Given the description of an element on the screen output the (x, y) to click on. 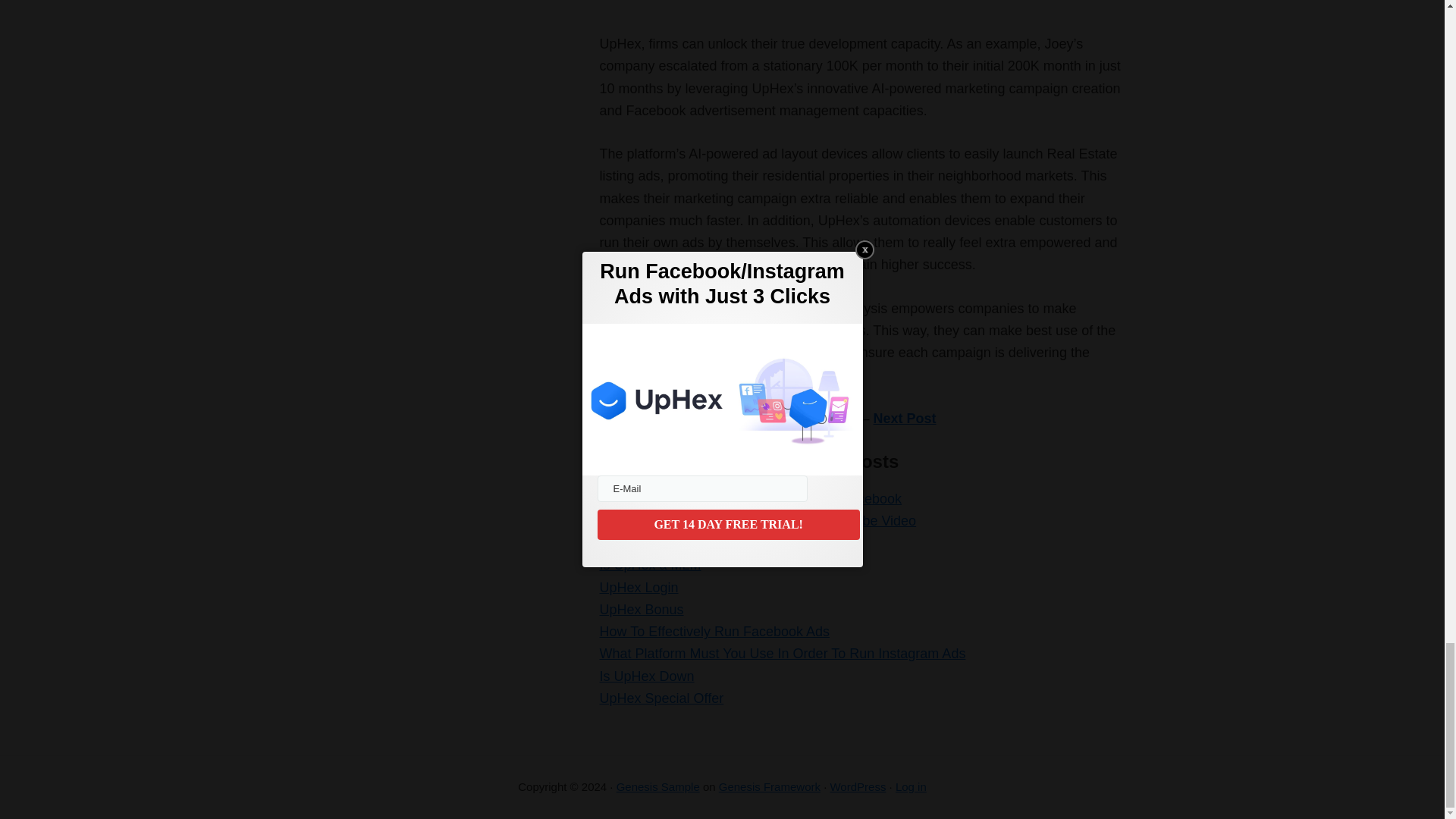
Genesis Framework (770, 786)
Is UpHex Down (646, 676)
Log in (910, 786)
Can I Run Facebook Ads To Promote Youtube Video (756, 520)
Prev Post (825, 418)
UpHex Bonus (640, 609)
How To Effectively Run Facebook Ads (713, 631)
Can I Run Facebook Ads To Promote Youtube Video (756, 520)
WordPress (857, 786)
Is UpHex a MLM (649, 564)
UpHex Login (638, 587)
UpHex Special Offer (660, 698)
What Platform Must You Use In Order To Run Instagram Ads (781, 653)
Is UpHex Down (646, 676)
How To Run Ads on Instagram Through Facebook (749, 498)
